Given the description of an element on the screen output the (x, y) to click on. 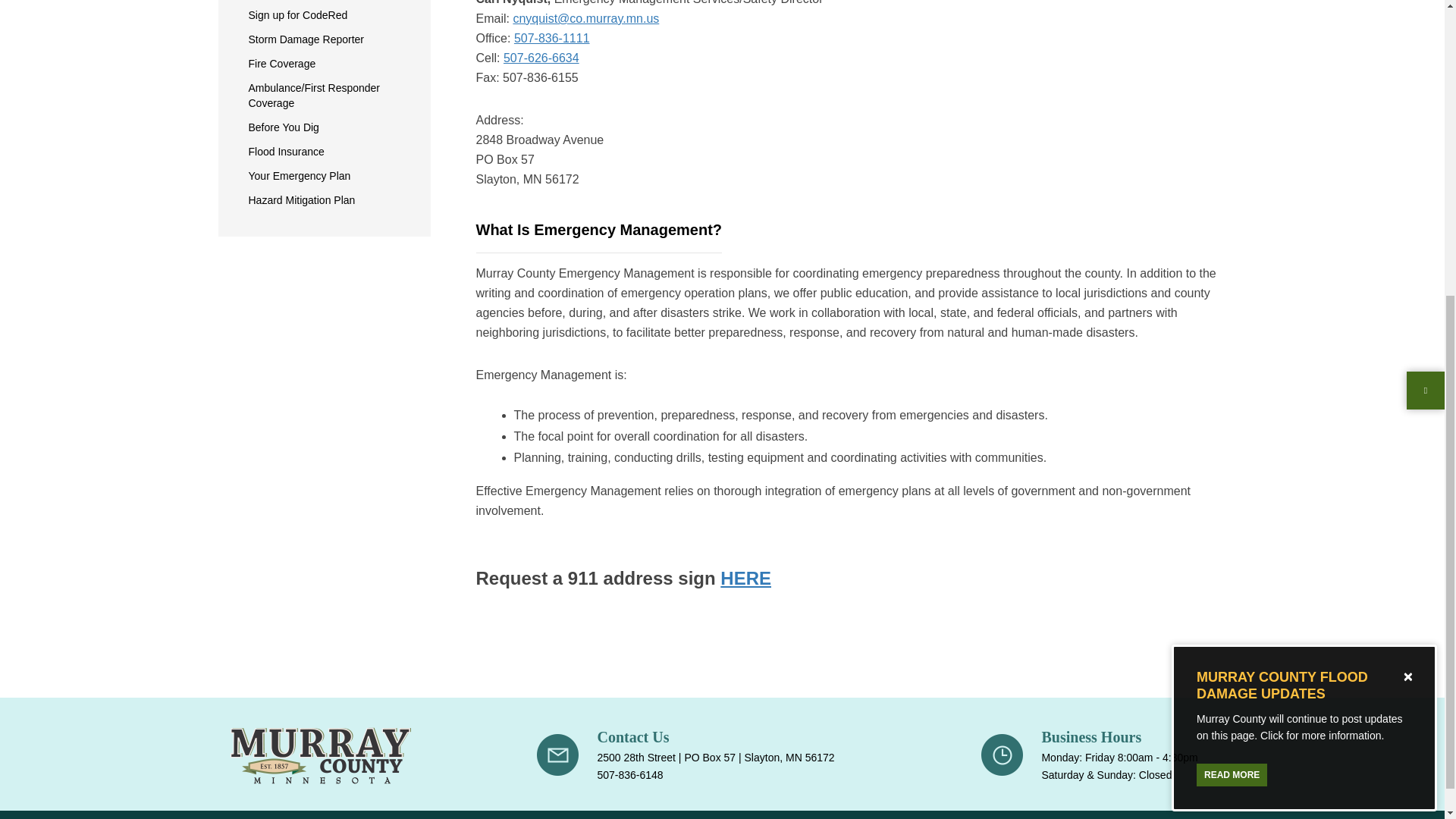
clock-icon (1002, 754)
footer-logo (319, 755)
mail-icon (557, 754)
